Given the description of an element on the screen output the (x, y) to click on. 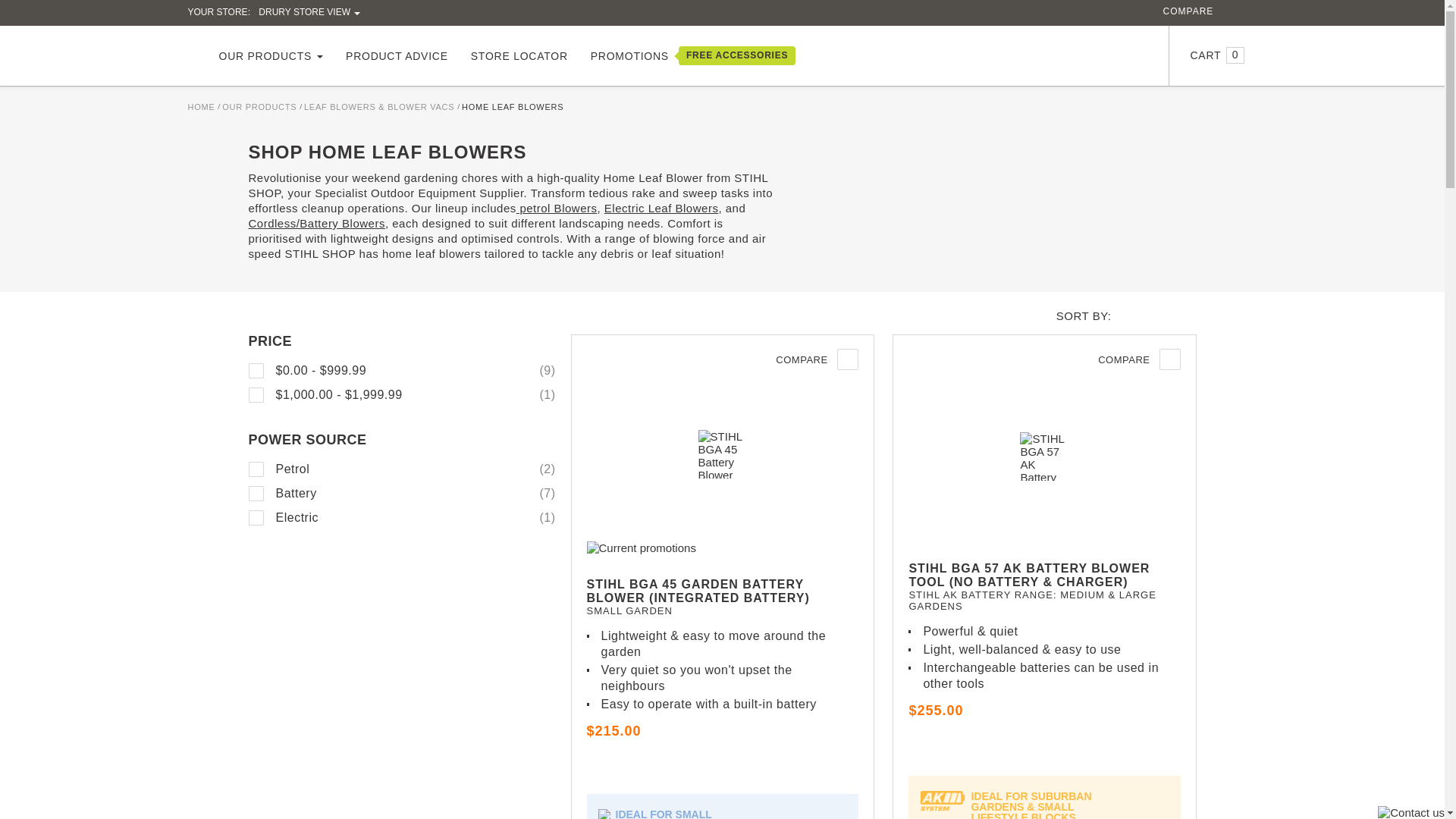
Compare Products (1188, 10)
on (255, 517)
on (255, 493)
on (255, 394)
on (255, 468)
on (255, 370)
OUR PRODUCTS (270, 55)
COMPARE (1188, 10)
